Given the description of an element on the screen output the (x, y) to click on. 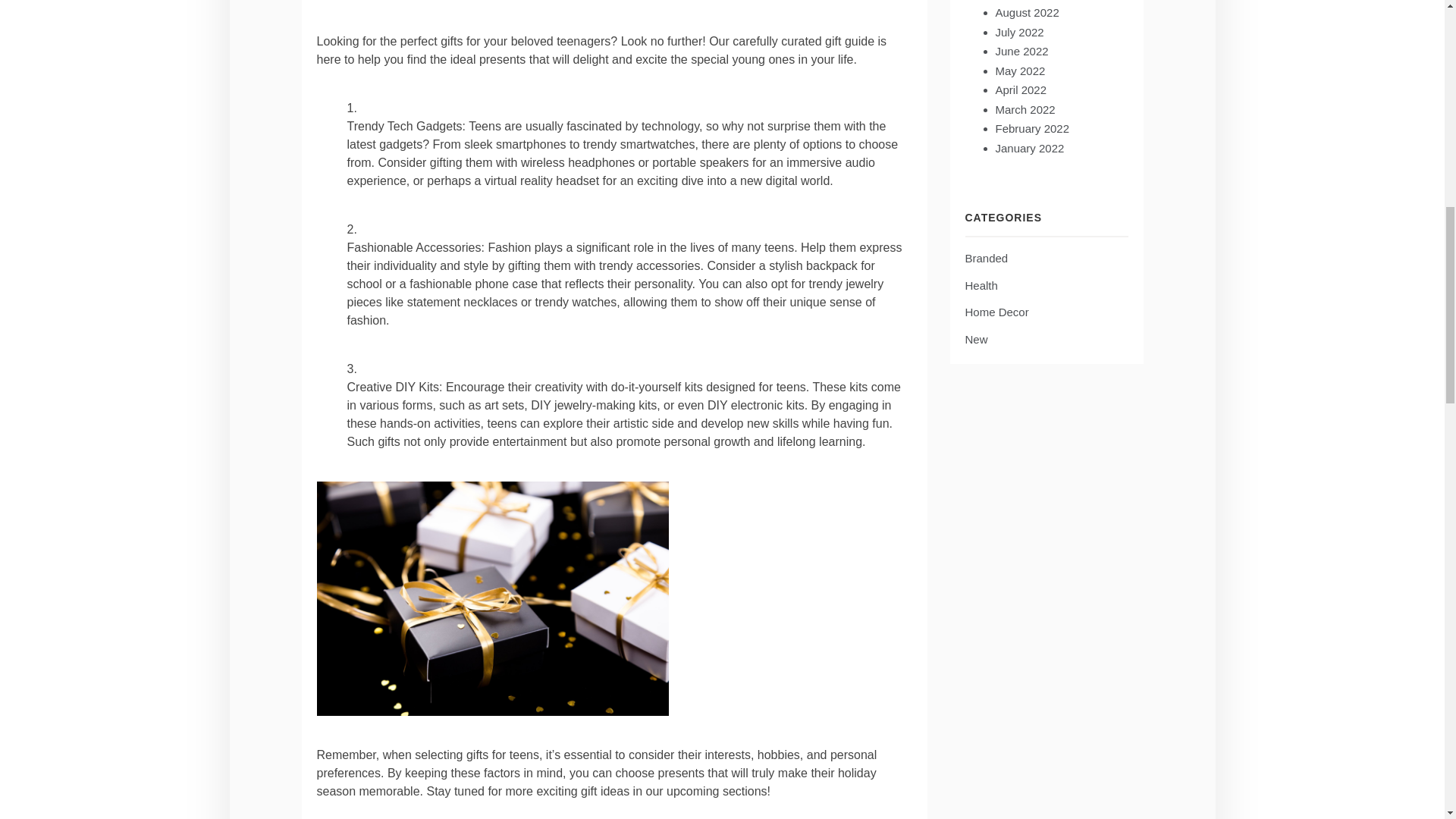
February 2022 (1031, 128)
August 2022 (1026, 11)
April 2022 (1020, 89)
June 2022 (1021, 51)
July 2022 (1018, 31)
January 2022 (1029, 147)
May 2022 (1019, 70)
March 2022 (1024, 109)
